Given the description of an element on the screen output the (x, y) to click on. 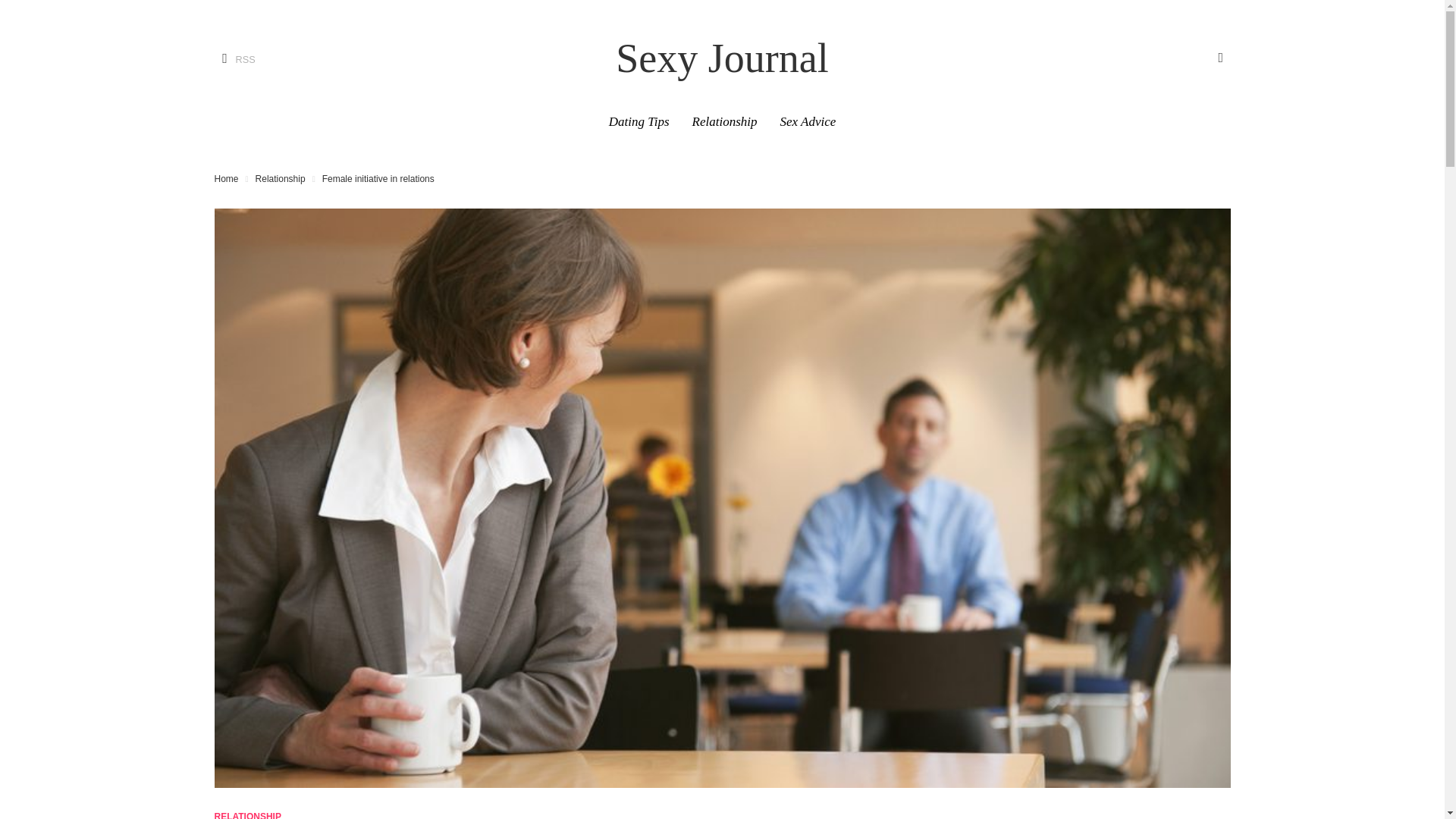
Relationship (724, 121)
Home (226, 178)
Dating Tips (638, 121)
RSS (234, 58)
Relationship (280, 178)
RELATIONSHIP (247, 815)
Sexy Journal (721, 58)
Sex Advice (807, 121)
